Given the description of an element on the screen output the (x, y) to click on. 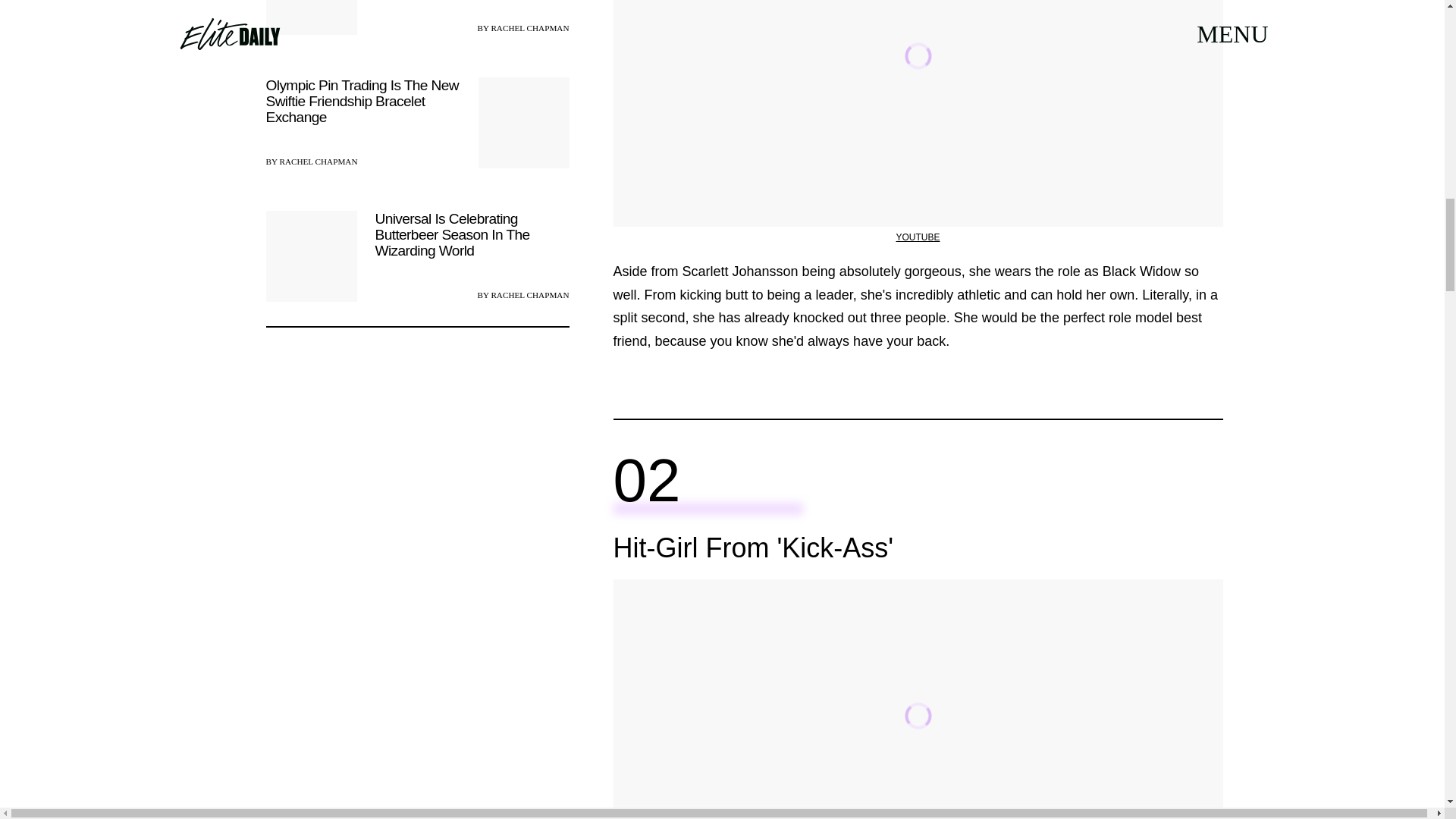
YOUTUBE (917, 236)
